Given the description of an element on the screen output the (x, y) to click on. 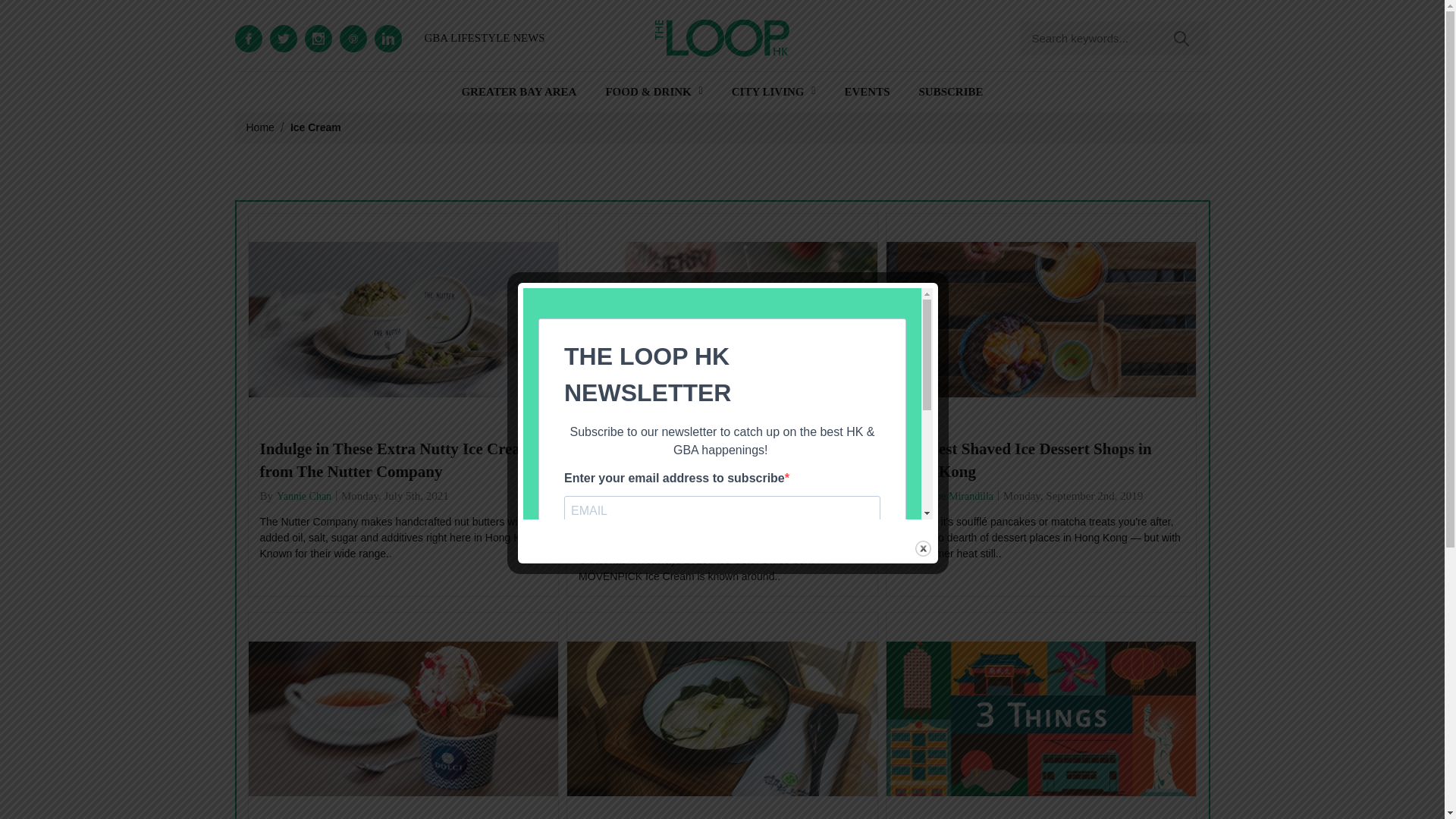
CITY LIVING (768, 92)
Close (923, 547)
Leanne Mirandilla (954, 495)
EVENTS (866, 92)
Home (259, 127)
SUBSCRIBE (951, 92)
Yannie Chan (303, 495)
The Best Shaved Ice Dessert Shops in Hong Kong (1041, 459)
The Loop HK Staff (637, 518)
GREATER BAY AREA (518, 92)
